Given the description of an element on the screen output the (x, y) to click on. 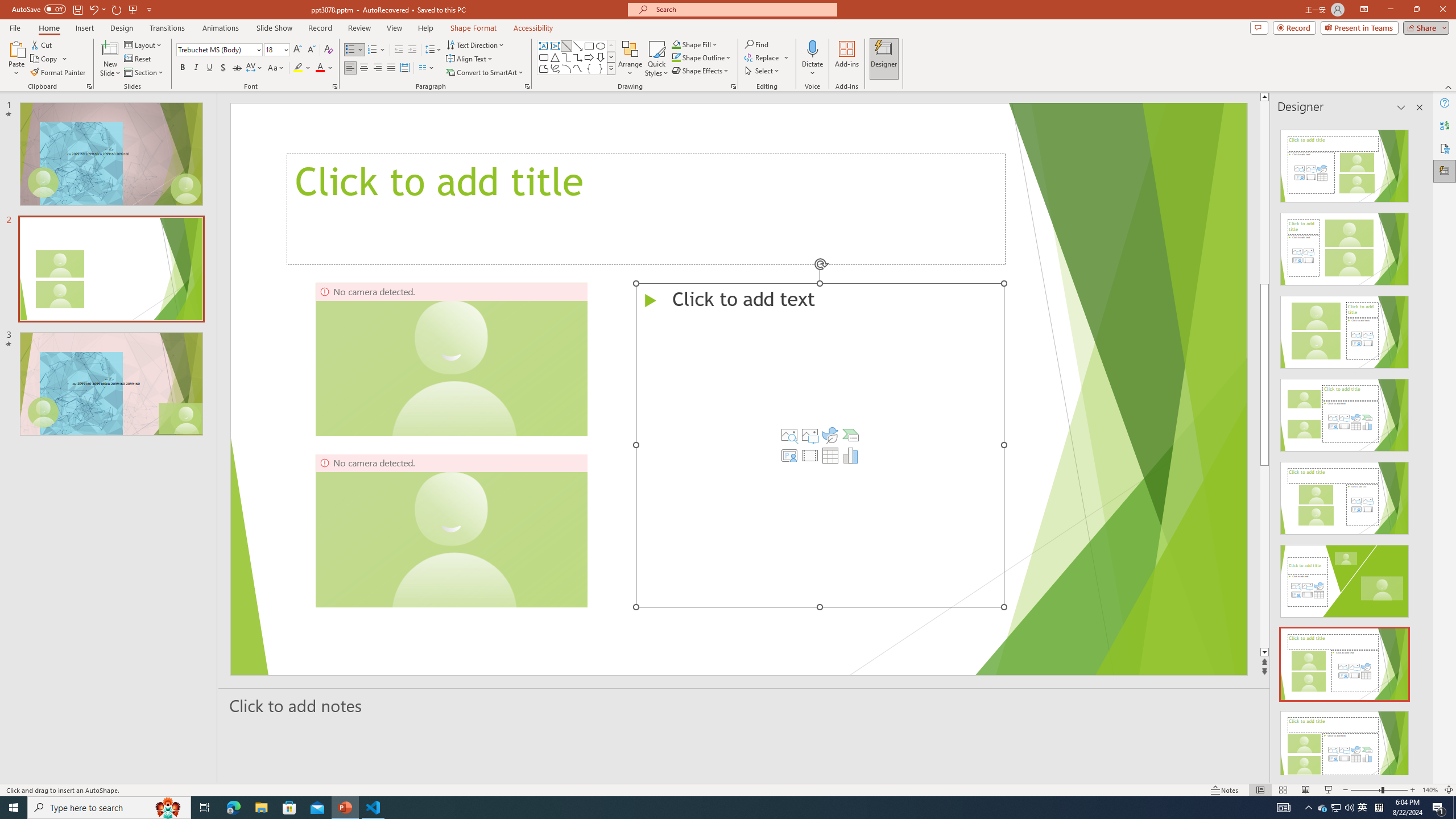
Shapes (611, 68)
Convert to SmartArt (485, 72)
Underline (209, 67)
Arrow: Right (589, 57)
Camera 3, No camera detected. (838, 530)
Pictures (809, 434)
Section (144, 72)
Left Brace (589, 68)
Change Case (276, 67)
